Given the description of an element on the screen output the (x, y) to click on. 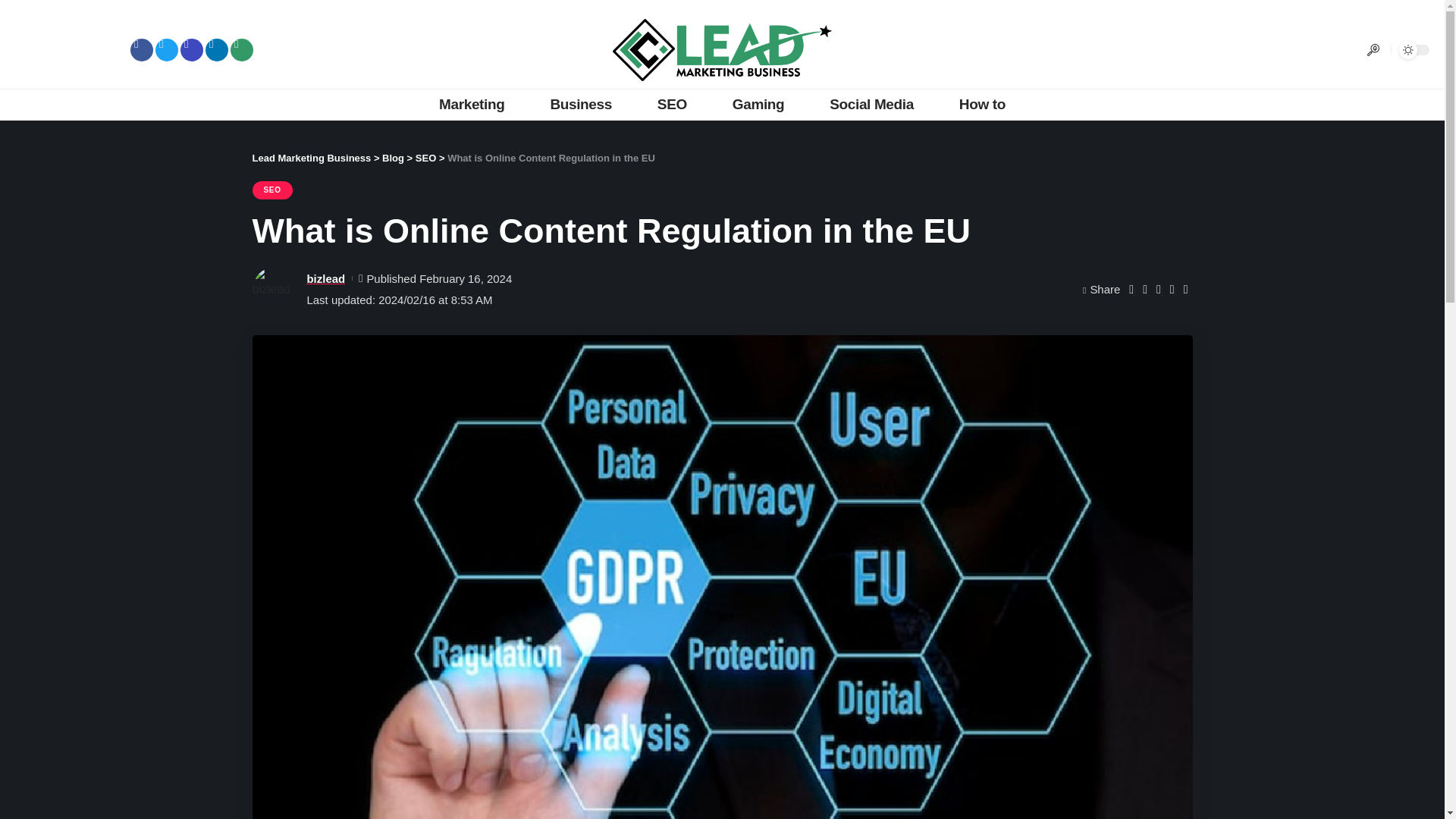
Go to Lead Marketing Business. (311, 157)
Business (580, 104)
Marketing (471, 104)
SEO (424, 157)
Blog (392, 157)
Gaming (758, 104)
How to (981, 104)
Social Media (871, 104)
SEO (271, 189)
SEO (672, 104)
